Given the description of an element on the screen output the (x, y) to click on. 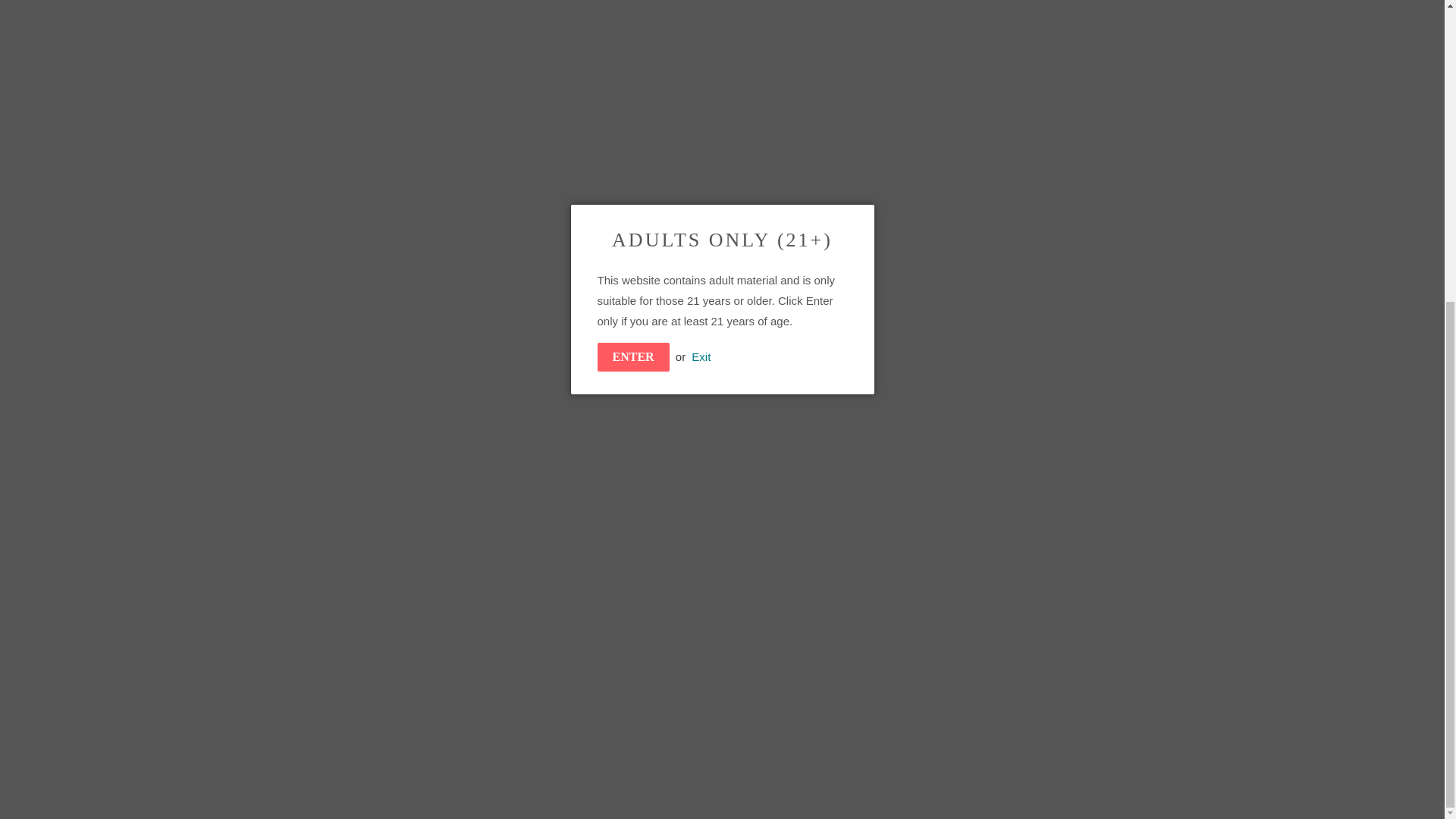
Sign Up (1036, 678)
Pendants (861, 240)
Peter Muller (913, 240)
